Given the description of an element on the screen output the (x, y) to click on. 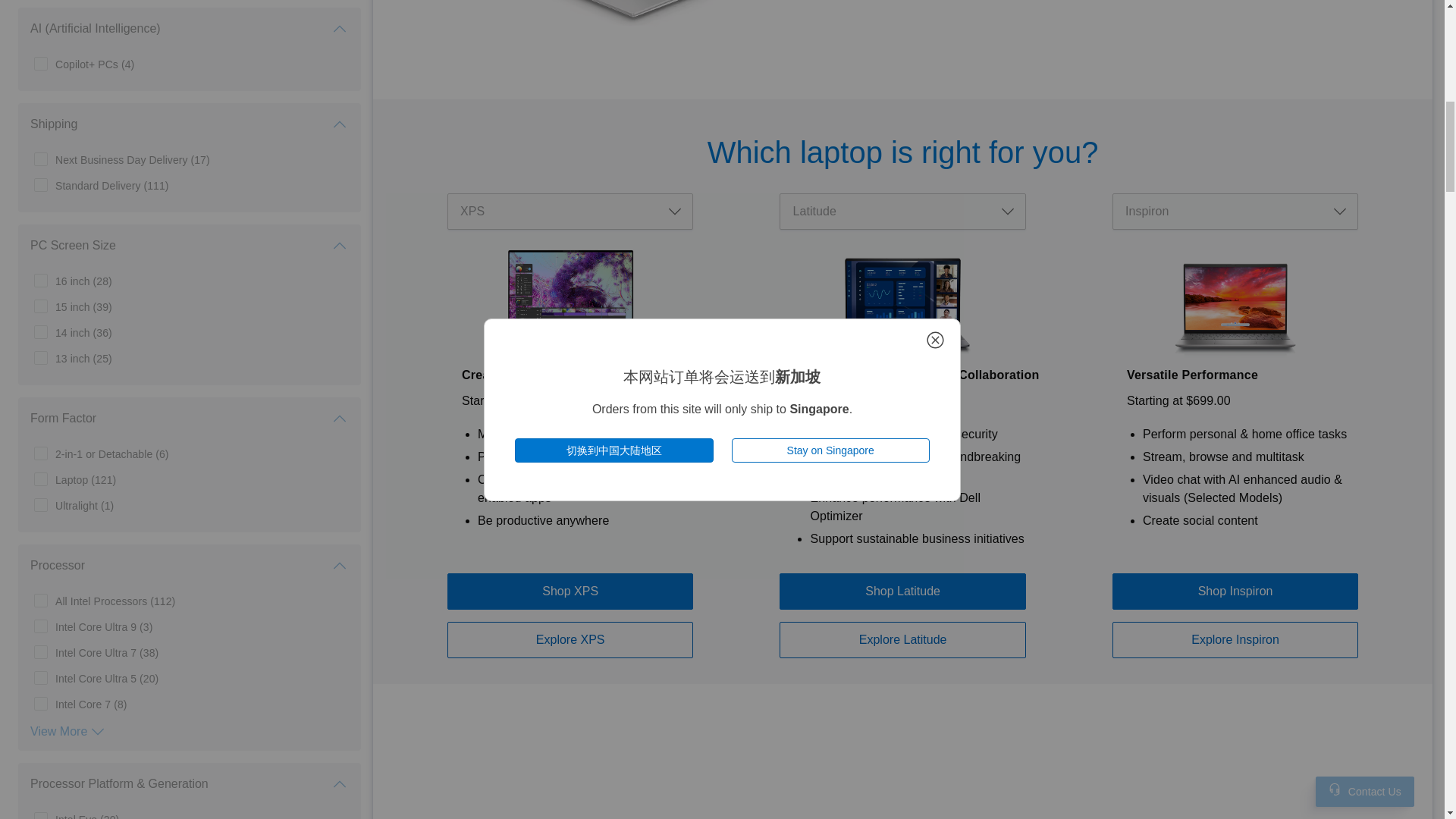
Standard Delivery (111, 185)
15 inch (83, 306)
Next Business Day Delivery (132, 159)
Laptop (85, 479)
13 inch (83, 358)
2-in-1 or Detachable (111, 453)
16 inch (83, 281)
Ultralight (84, 505)
14 inch (83, 332)
